Given the description of an element on the screen output the (x, y) to click on. 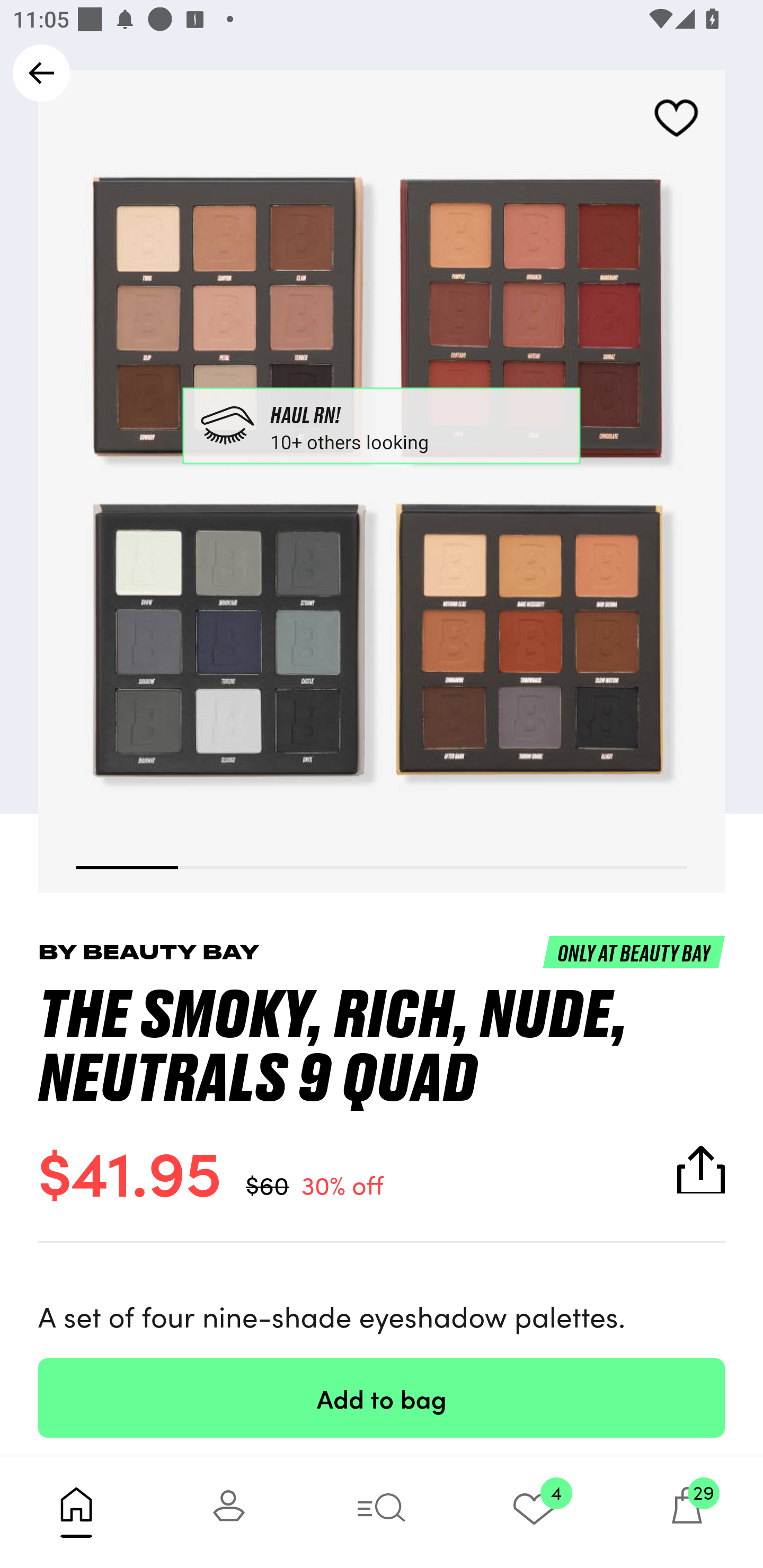
Add to bag (381, 1397)
4 (533, 1512)
29 (686, 1512)
